Given the description of an element on the screen output the (x, y) to click on. 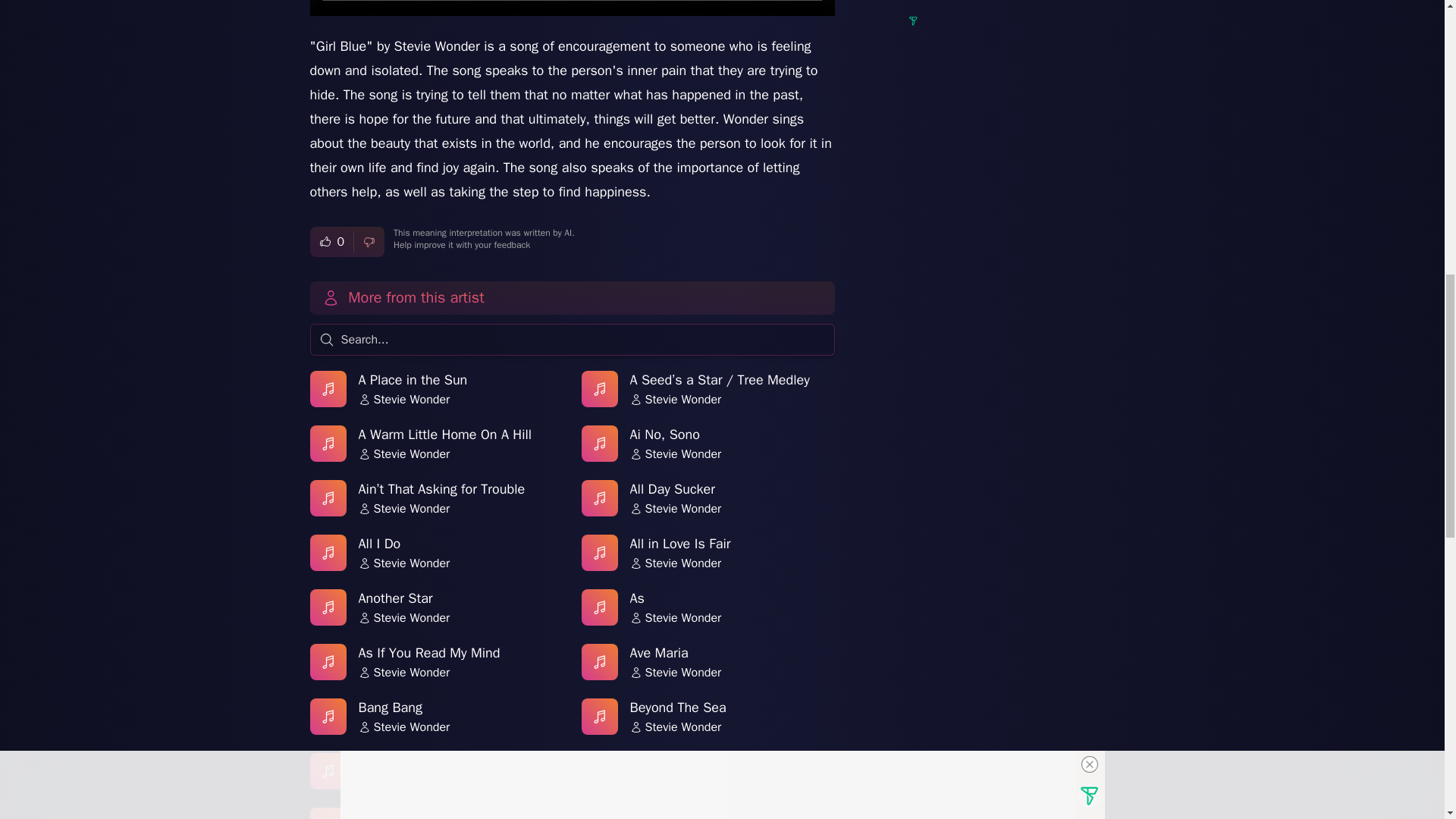
3rd party ad content (1020, 135)
3rd party ad content (1020, 6)
